Given the description of an element on the screen output the (x, y) to click on. 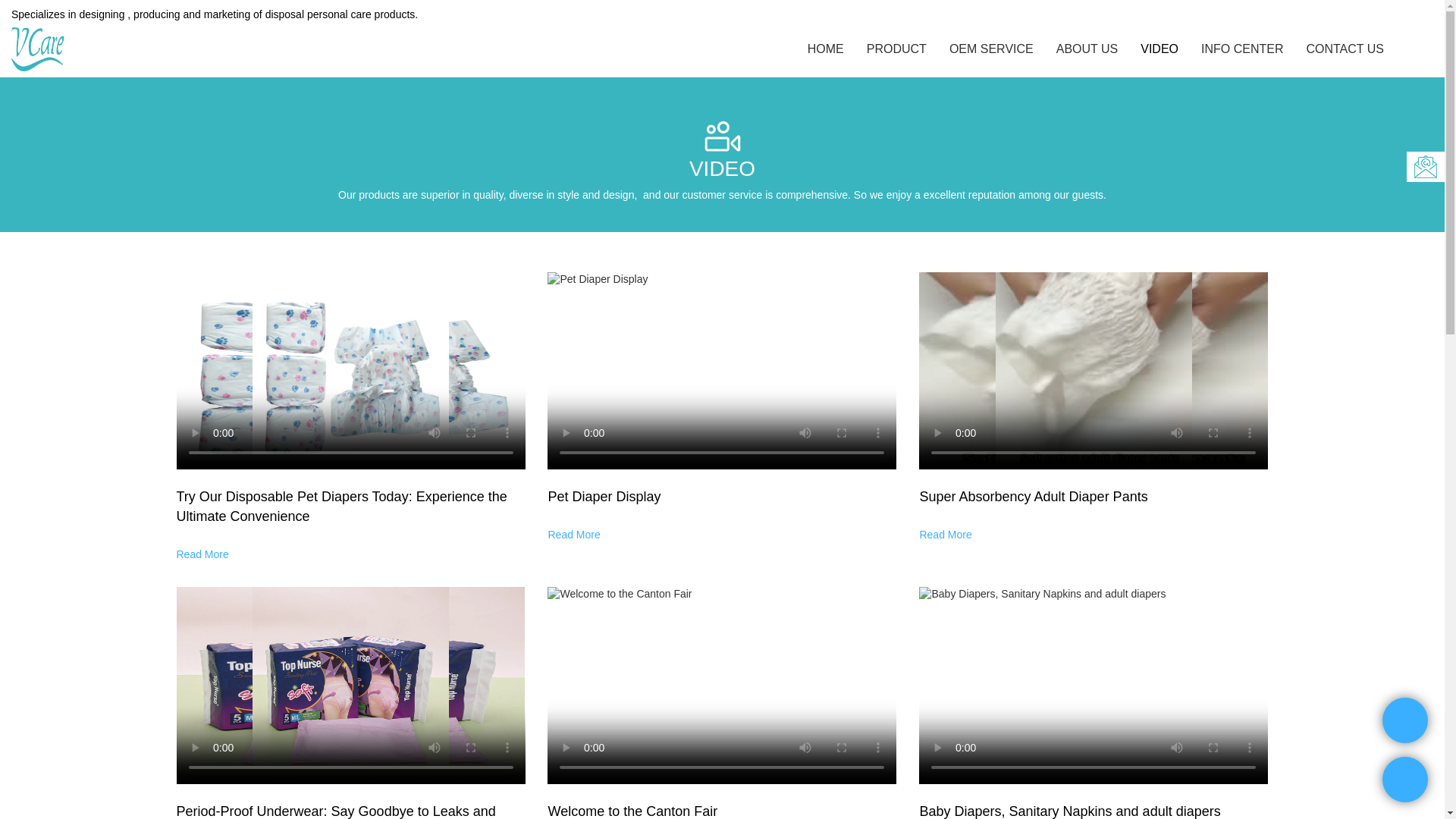
Read More (944, 533)
PRODUCT (896, 49)
CONTACT US (1345, 49)
ABOUT US (1087, 49)
Read More (573, 533)
Read More (202, 553)
OEM SERVICE (991, 49)
INFO CENTER (1241, 49)
